Given the description of an element on the screen output the (x, y) to click on. 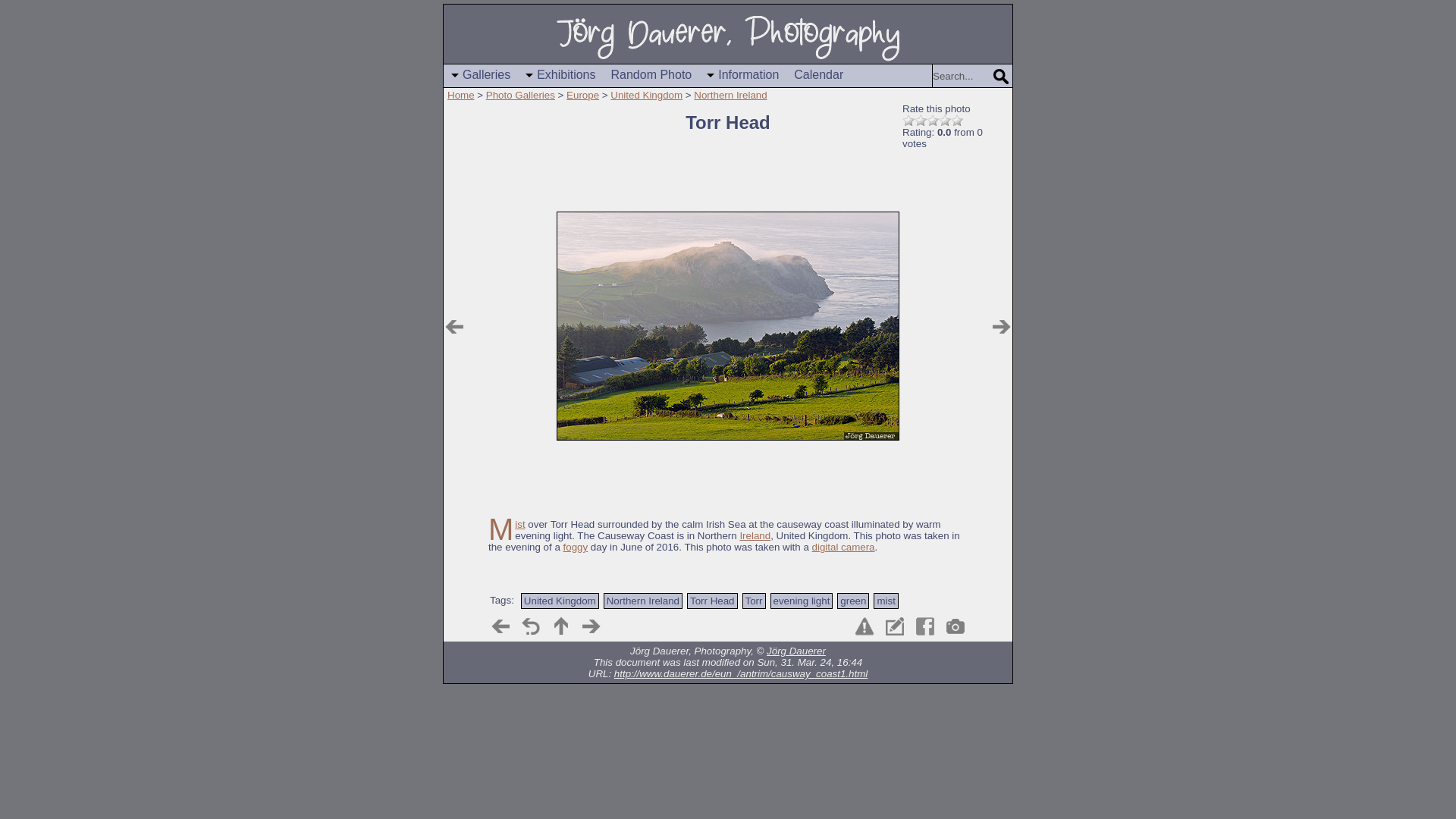
Exhibitions (560, 75)
Galleries (481, 75)
Europe (582, 94)
4 (944, 120)
3 (932, 120)
2 (920, 120)
Calendar (818, 75)
5 (956, 120)
digital camera (843, 546)
foggy (575, 546)
Online Exhibitions (560, 75)
Northern Ireland (730, 94)
Random Photo (652, 75)
Search... (961, 75)
